Given the description of an element on the screen output the (x, y) to click on. 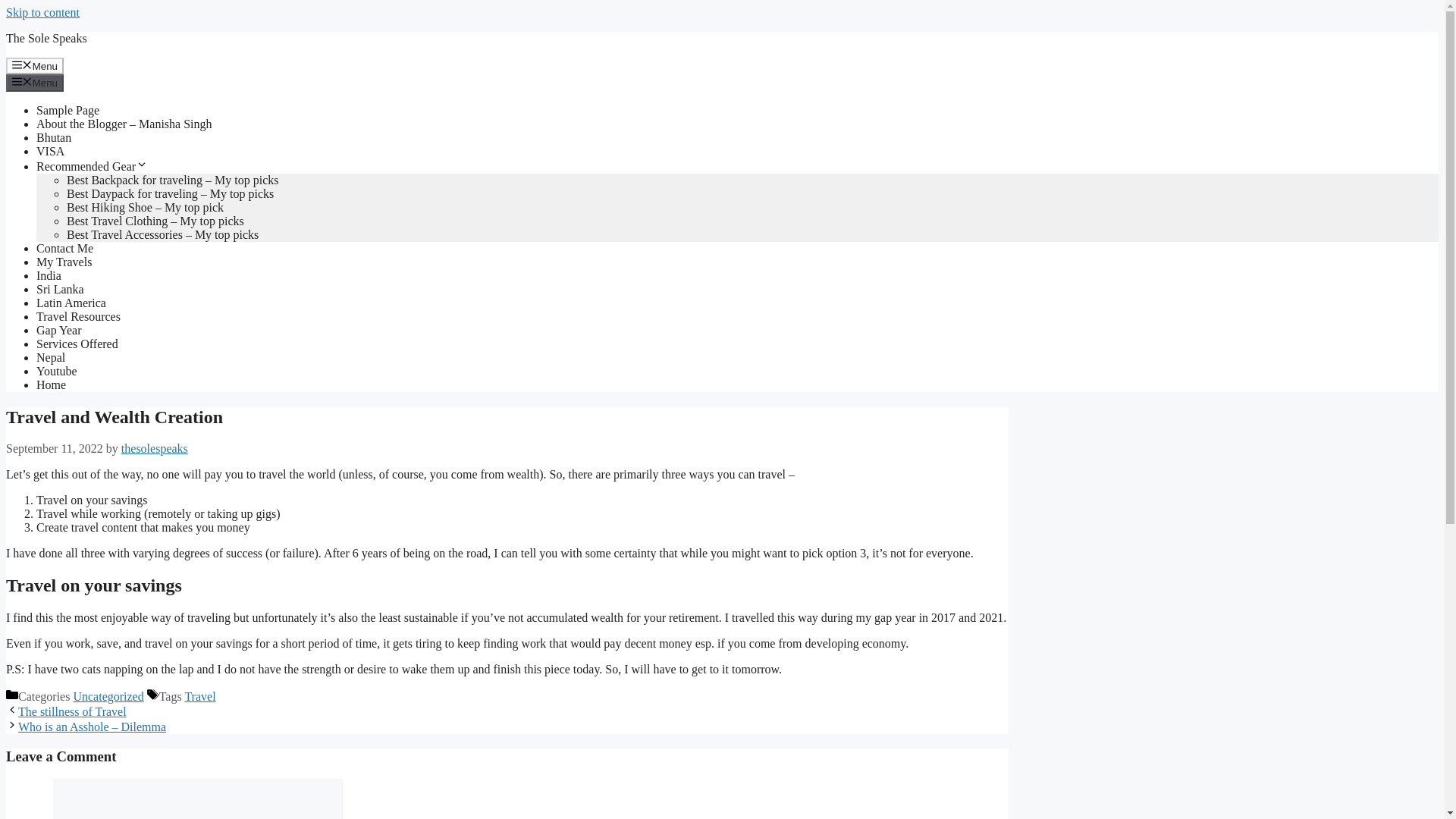
Menu (34, 82)
Sri Lanka (60, 288)
Latin America (71, 302)
India (48, 275)
VISA (50, 151)
Skip to content (42, 11)
Bhutan (53, 137)
Uncategorized (107, 696)
Travel (199, 696)
Services Offered (76, 343)
